Given the description of an element on the screen output the (x, y) to click on. 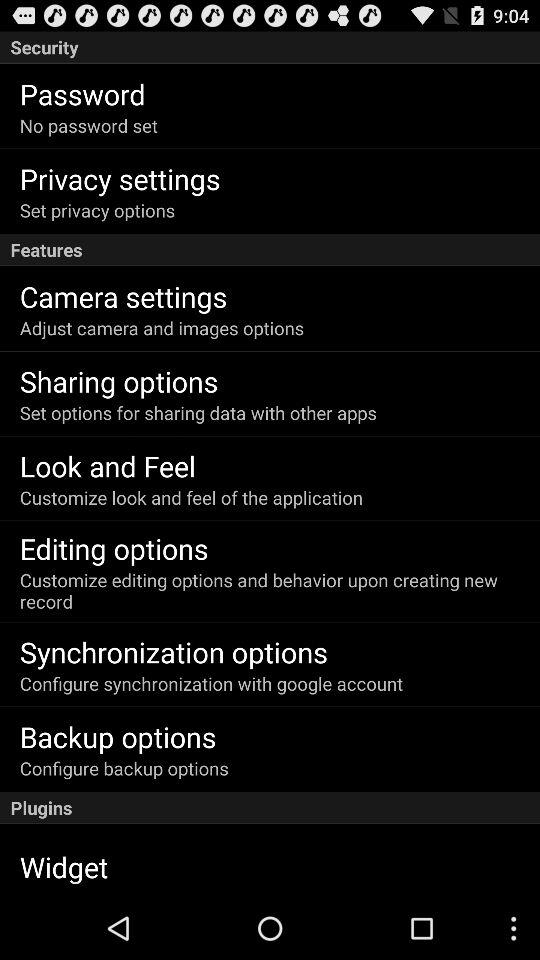
open the icon above adjust camera and item (123, 296)
